Given the description of an element on the screen output the (x, y) to click on. 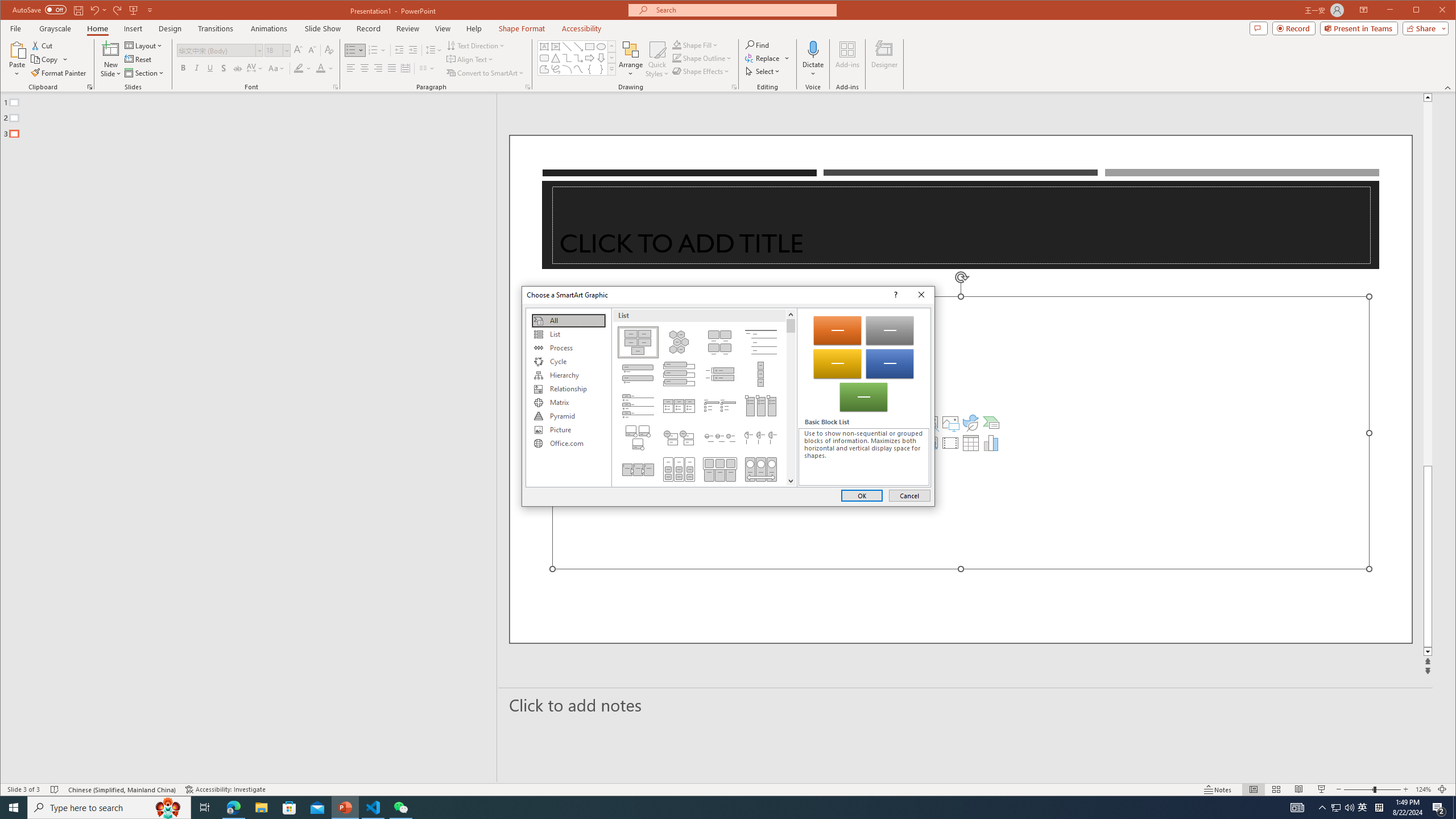
Outline (252, 115)
Shape Effects (702, 70)
Insert an Icon (970, 422)
Cycle (568, 361)
